Given the description of an element on the screen output the (x, y) to click on. 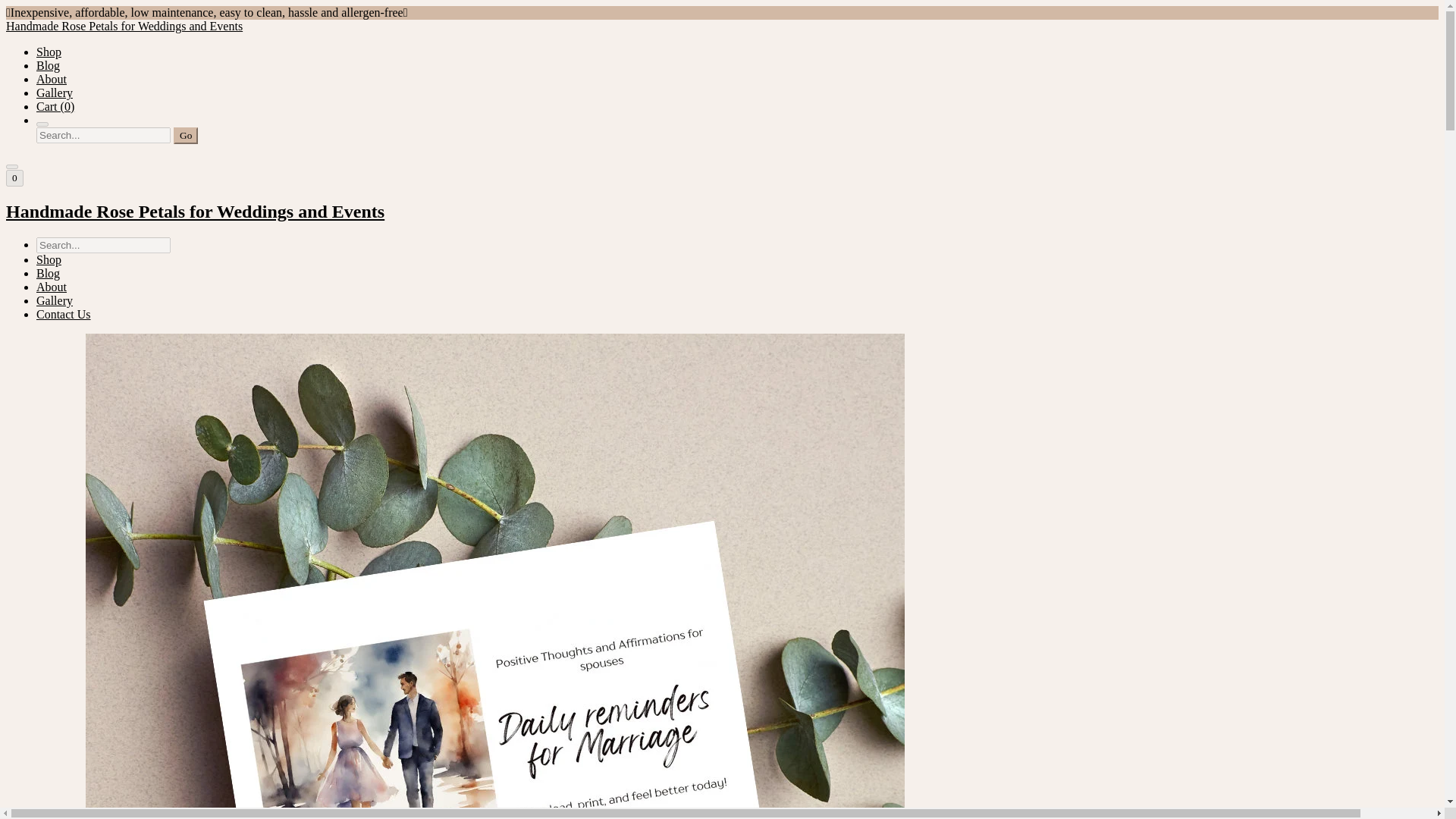
Blog (47, 65)
About (51, 286)
Gallery (54, 300)
Contact Us (63, 314)
0 (14, 177)
Shop (48, 259)
Go (185, 135)
Go (185, 135)
Shop (48, 51)
Gallery (54, 92)
About (51, 78)
Blog (47, 273)
Handmade Rose Petals for Weddings and Events (721, 211)
